Given the description of an element on the screen output the (x, y) to click on. 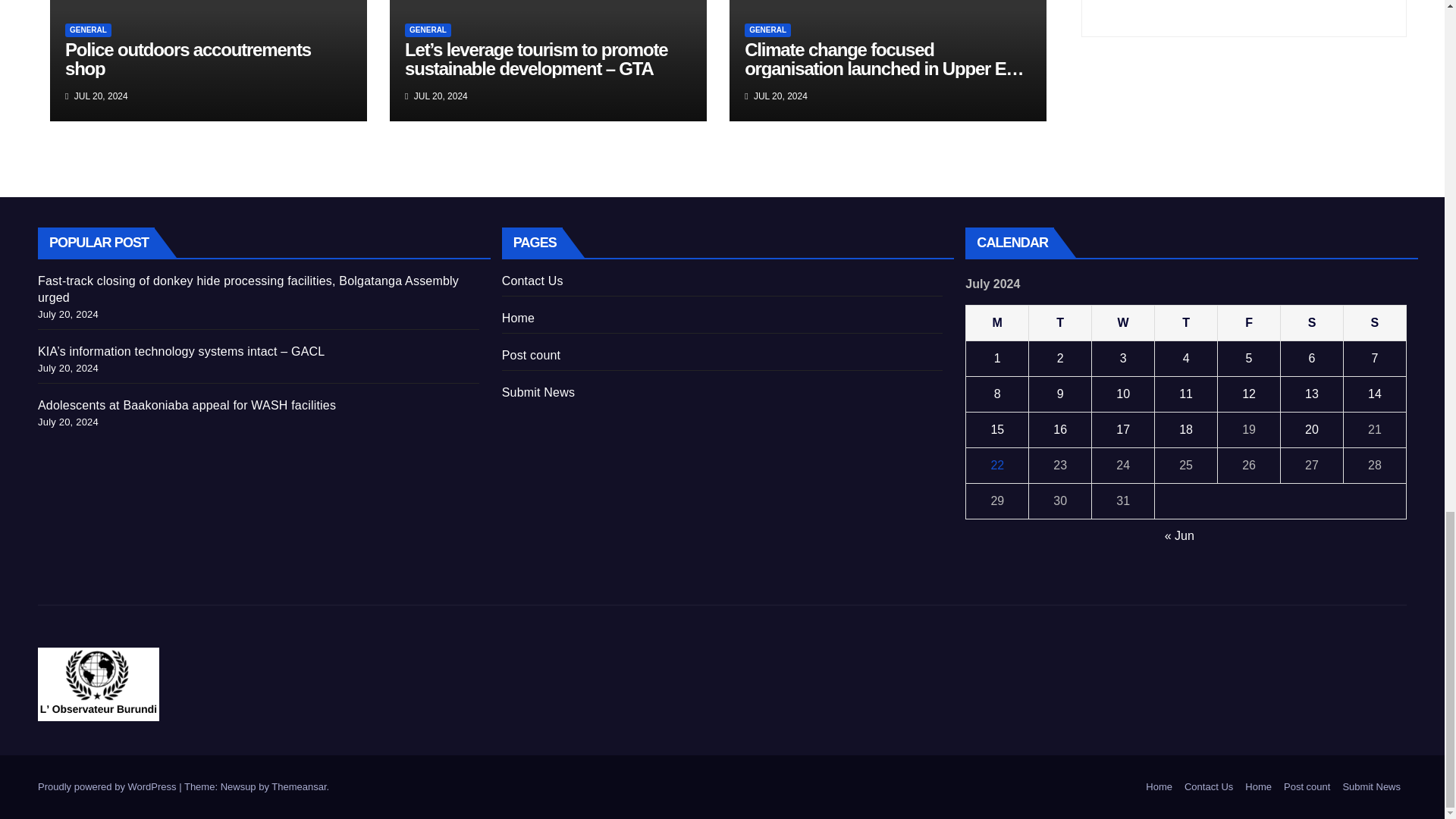
Police outdoors accoutrements shop (188, 58)
GENERAL (427, 29)
Permalink to: Police outdoors accoutrements shop (188, 58)
GENERAL (88, 29)
GENERAL (767, 29)
